Given the description of an element on the screen output the (x, y) to click on. 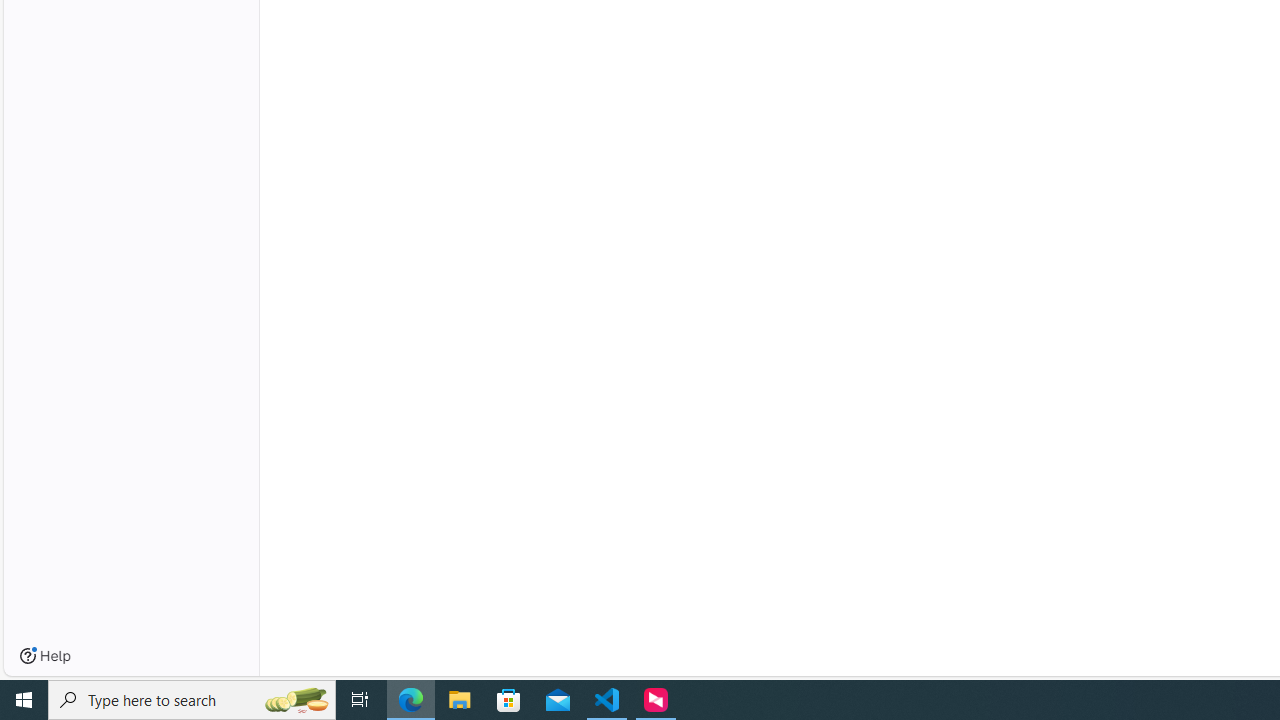
Microsoft Edge - 1 running window (411, 699)
Task View (359, 699)
File Explorer (460, 699)
Search highlights icon opens search home window (295, 699)
Start (24, 699)
Visual Studio Code - 1 running window (607, 699)
Type here to search (191, 699)
Microsoft Store (509, 699)
